Given the description of an element on the screen output the (x, y) to click on. 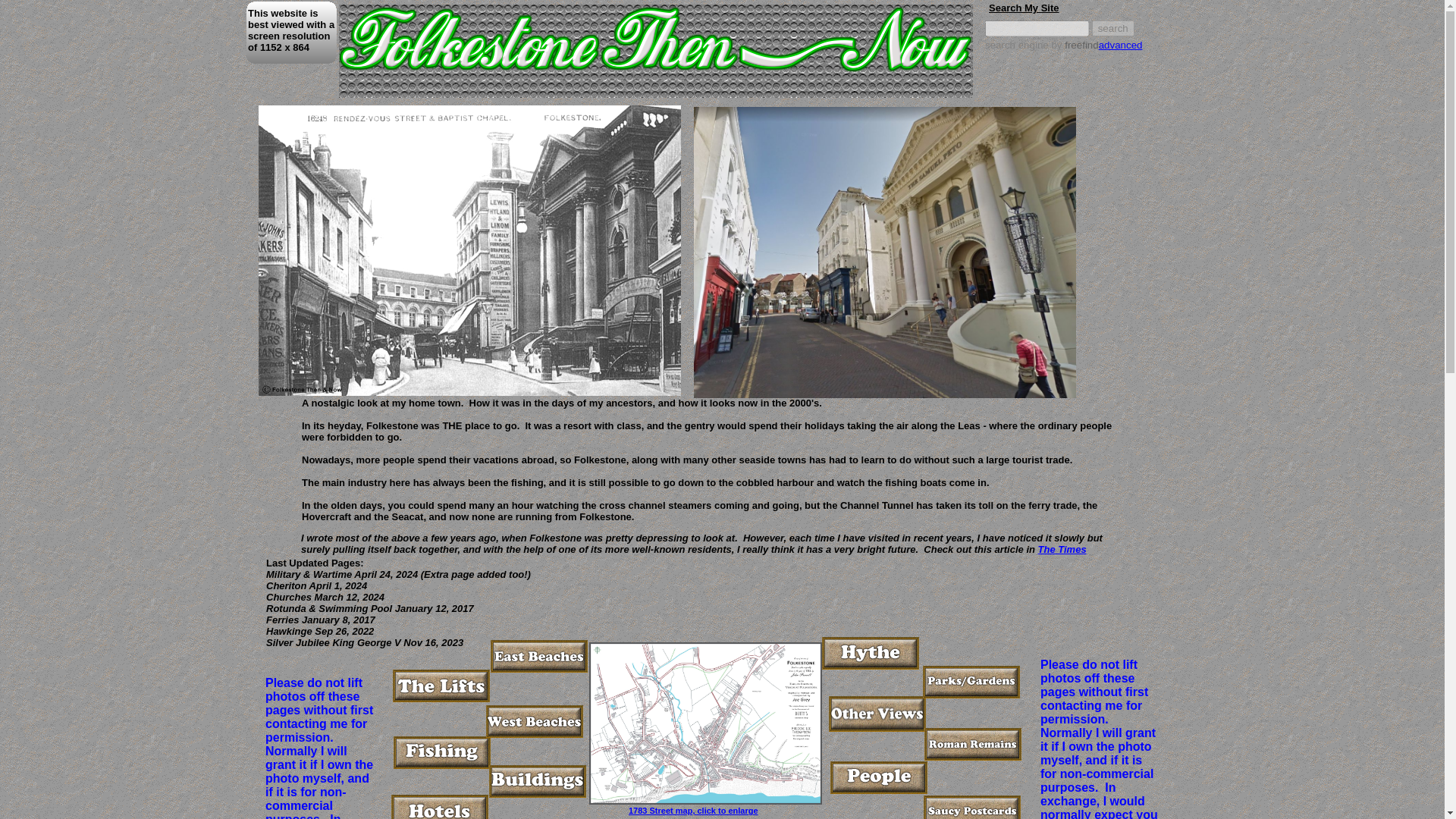
The Times (1062, 549)
search (1113, 28)
search (1113, 28)
